Given the description of an element on the screen output the (x, y) to click on. 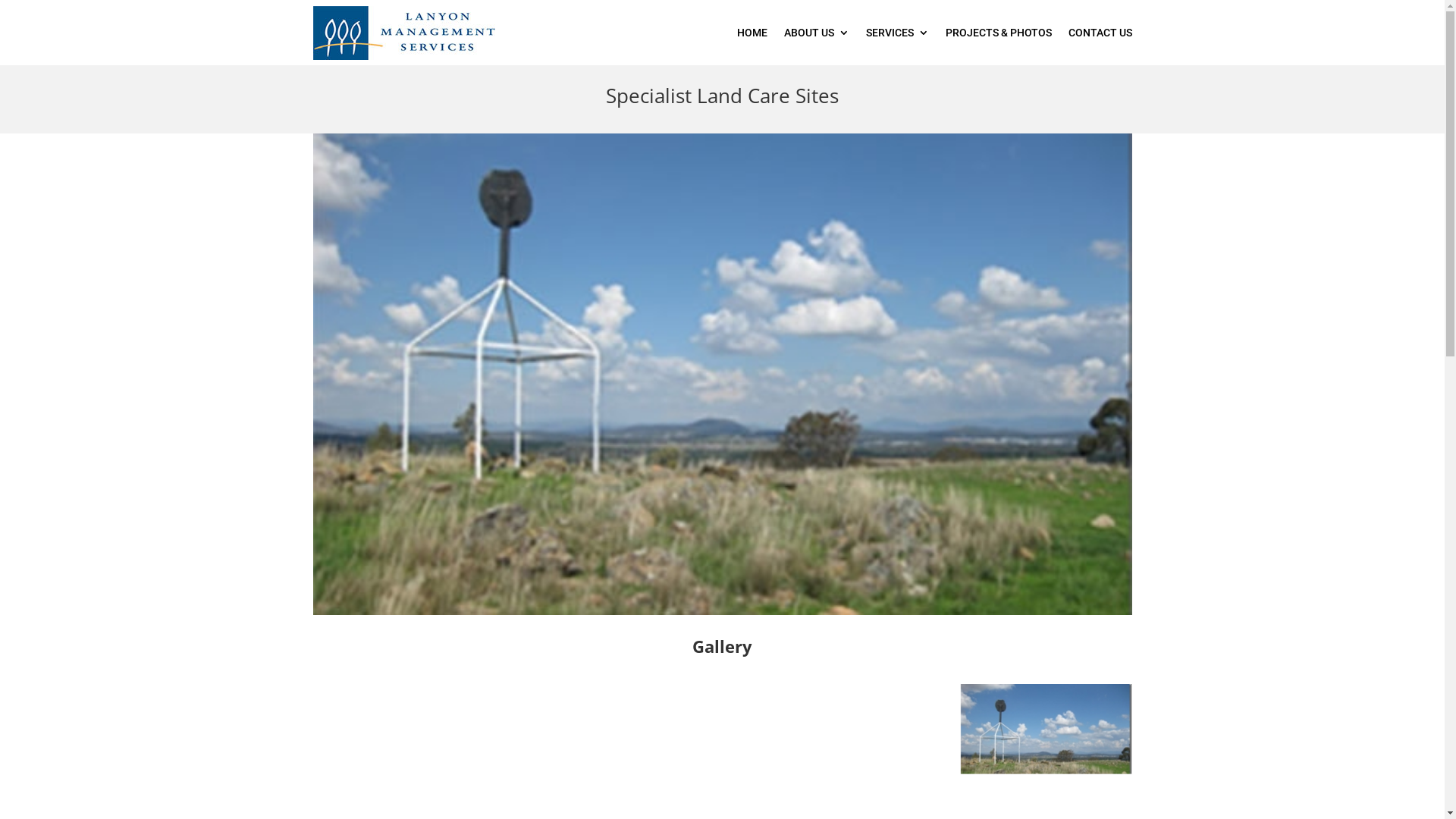
slcs1 Element type: hover (721, 374)
PROJECTS & PHOTOS Element type: text (997, 32)
CONTACT US Element type: text (1099, 32)
ABOUT US Element type: text (816, 32)
slcs4 Element type: hover (829, 800)
slcs2 Element type: hover (397, 800)
slcs3 Element type: hover (613, 805)
slcs5 Element type: hover (1045, 805)
SERVICES Element type: text (897, 32)
HOME Element type: text (752, 32)
